Given the description of an element on the screen output the (x, y) to click on. 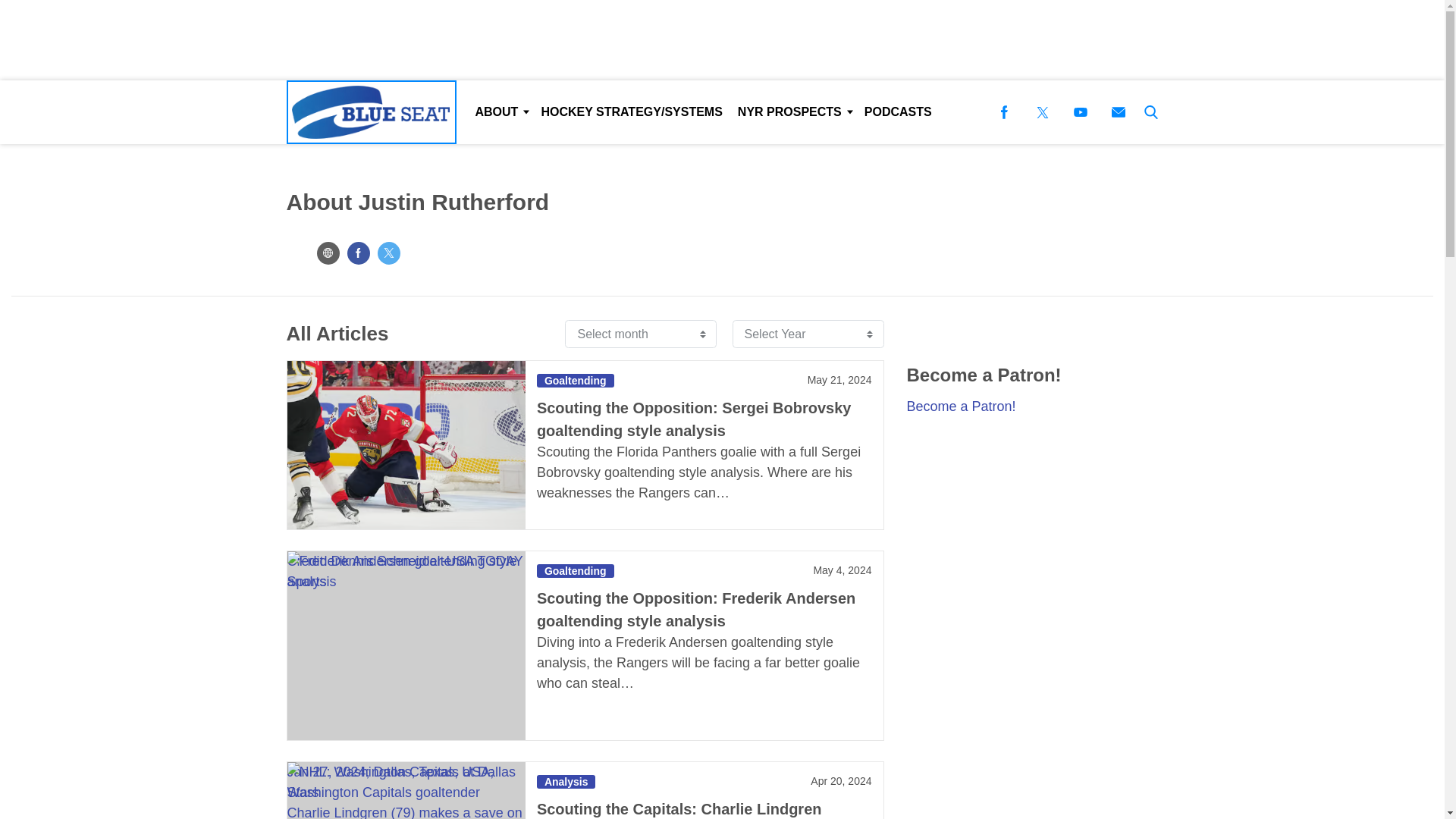
Goaltending (575, 380)
Twitter (388, 252)
Facebook (358, 252)
Credit: Dennis Schneidler-USA TODAY Sports (405, 645)
Credit: Jim Rassol-USA TODAY Sports (405, 445)
Analysis (566, 781)
Website (327, 252)
PODCASTS (898, 112)
NYR PROSPECTS (793, 112)
